Given the description of an element on the screen output the (x, y) to click on. 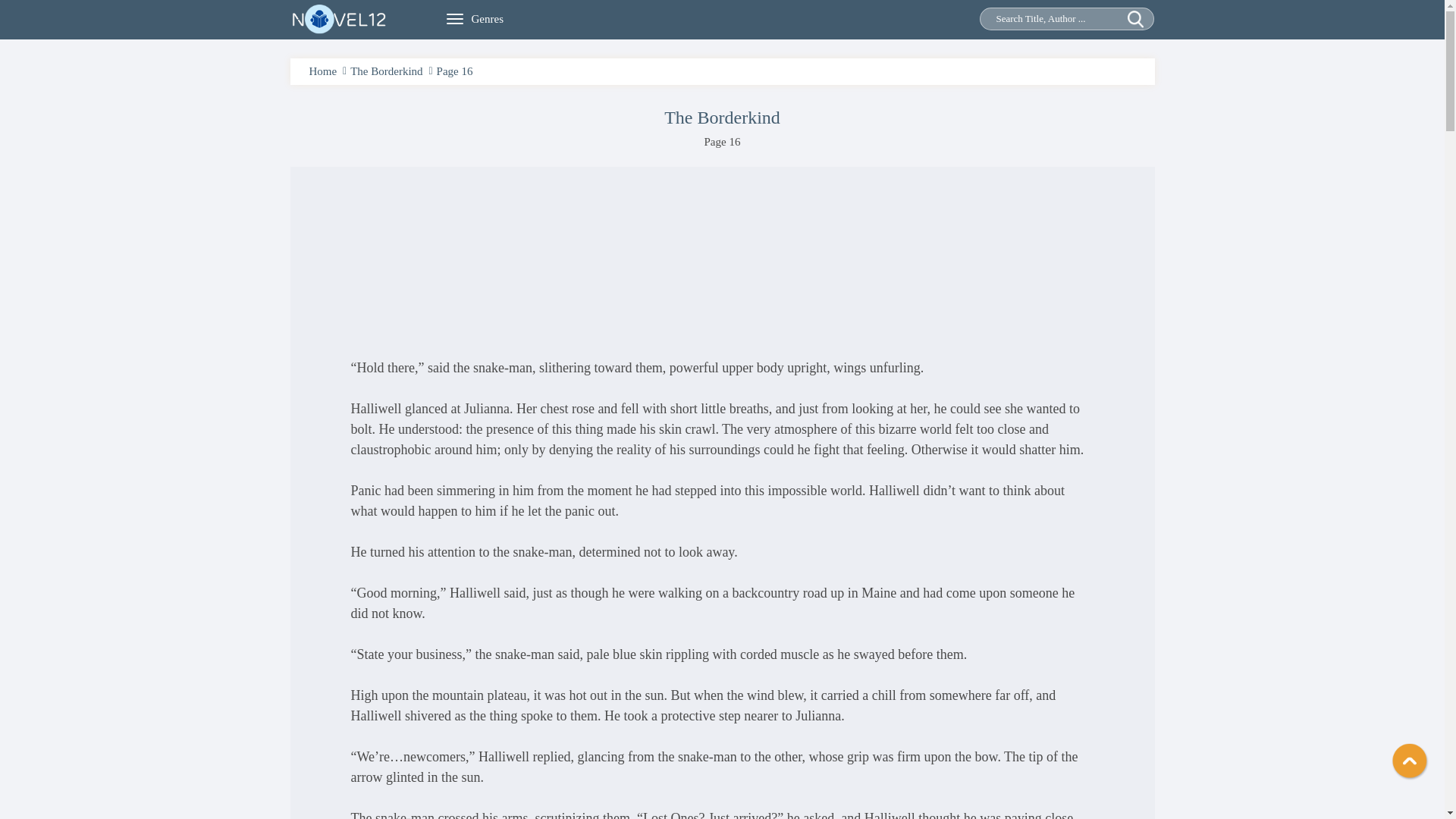
The Borderkind (386, 70)
The Borderkind (386, 70)
Home (322, 70)
The Borderkind (721, 117)
The Borderkind (721, 117)
Home (322, 70)
